Given the description of an element on the screen output the (x, y) to click on. 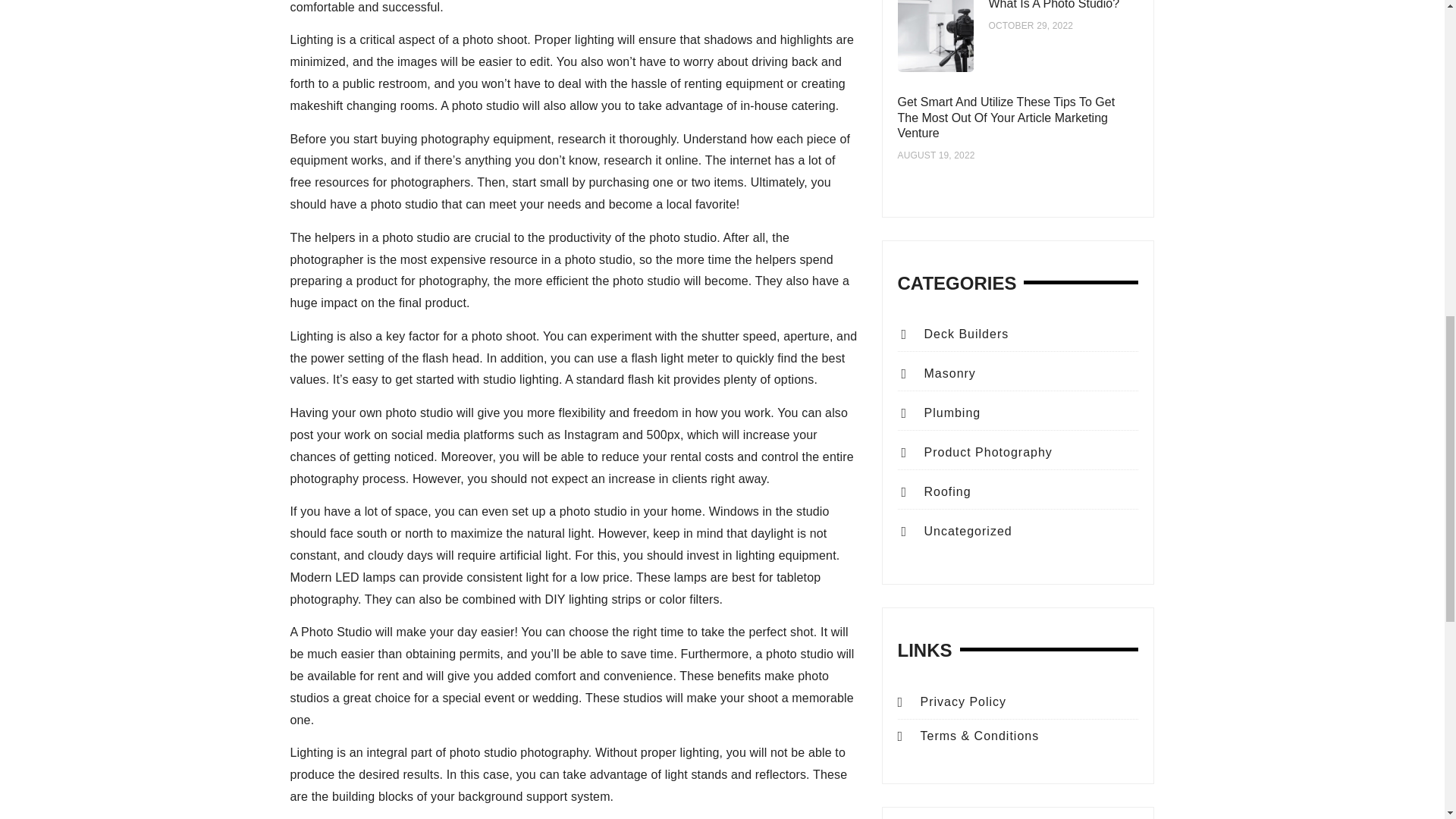
AUGUST 19, 2022 (936, 154)
OCTOBER 29, 2022 (1031, 25)
Deck Builders (955, 334)
Masonry (938, 373)
Plumbing (940, 413)
What Is A Photo Studio? (1053, 4)
